Given the description of an element on the screen output the (x, y) to click on. 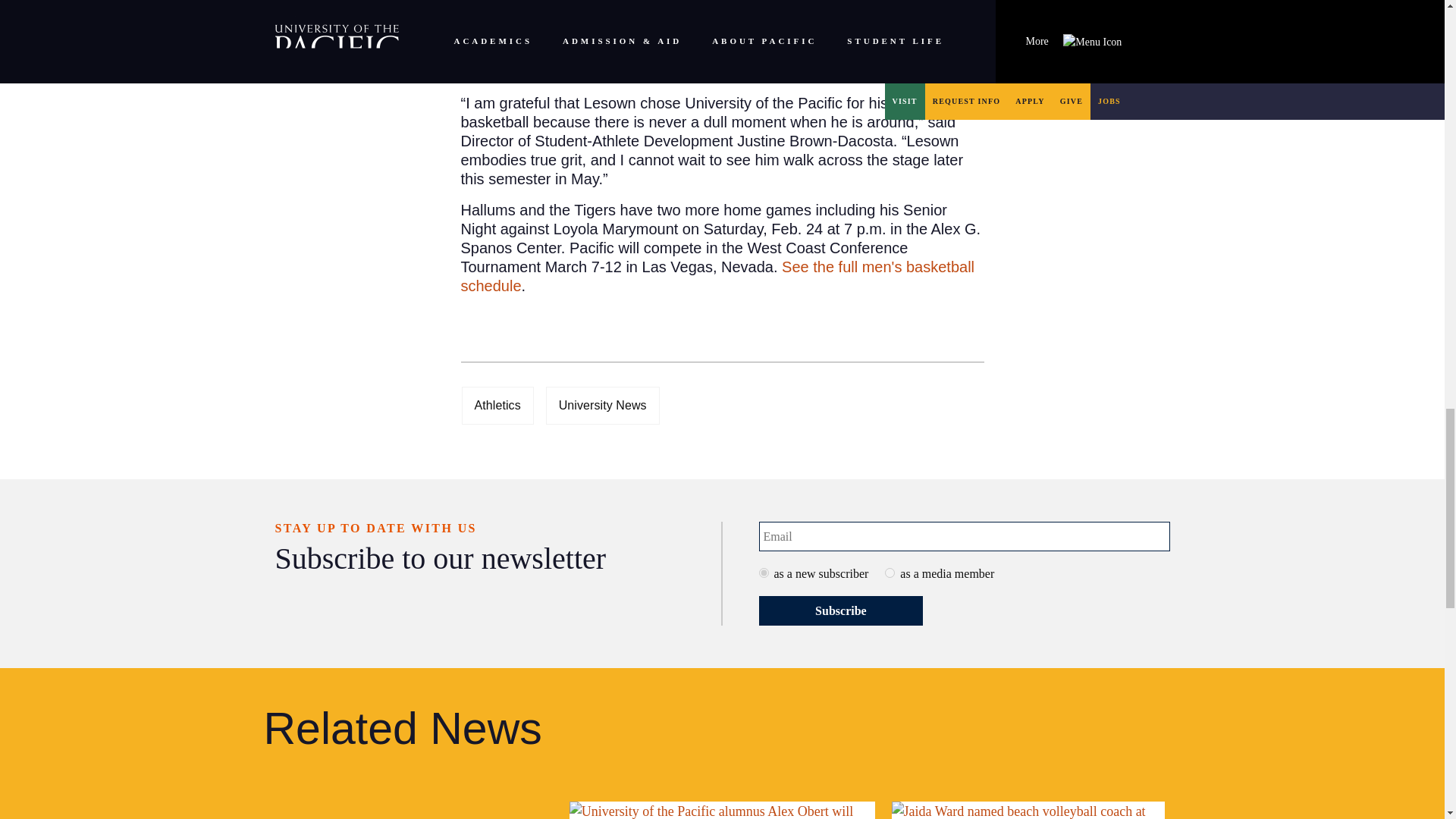
Subscribe (840, 610)
Media (890, 573)
Subscriber (763, 573)
